Given the description of an element on the screen output the (x, y) to click on. 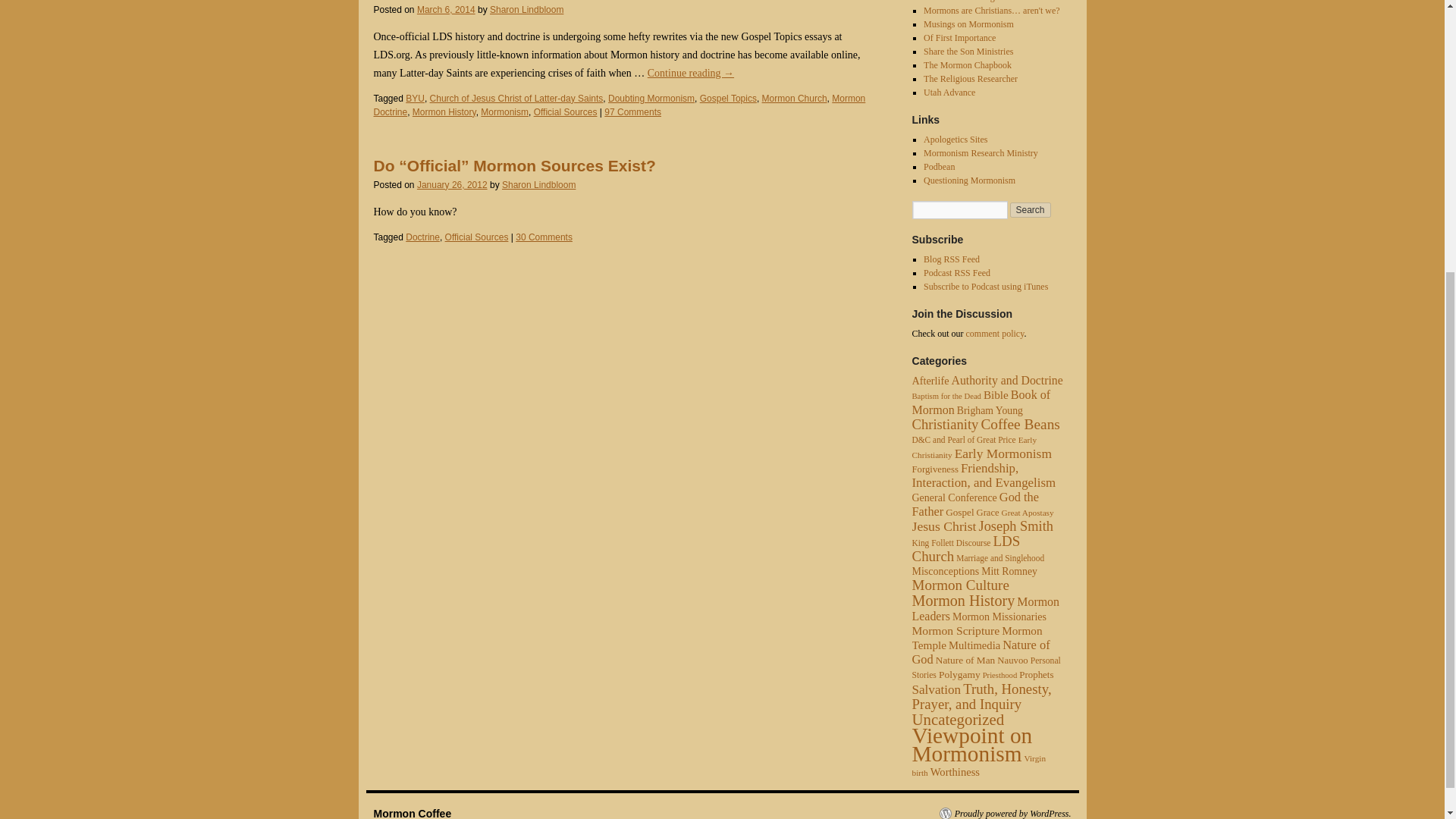
Mormon Doctrine (618, 105)
Mormonism (504, 112)
Gospel Topics (728, 98)
View all posts by Sharon Lindbloom (526, 9)
March 6, 2014 (446, 9)
Search (1030, 209)
Church of Jesus Christ of Latter-day Saints (516, 98)
BYU (415, 98)
Viewpoint on Mormonism shows on Podbean (939, 166)
View all posts by Sharon Lindbloom (538, 184)
